Given the description of an element on the screen output the (x, y) to click on. 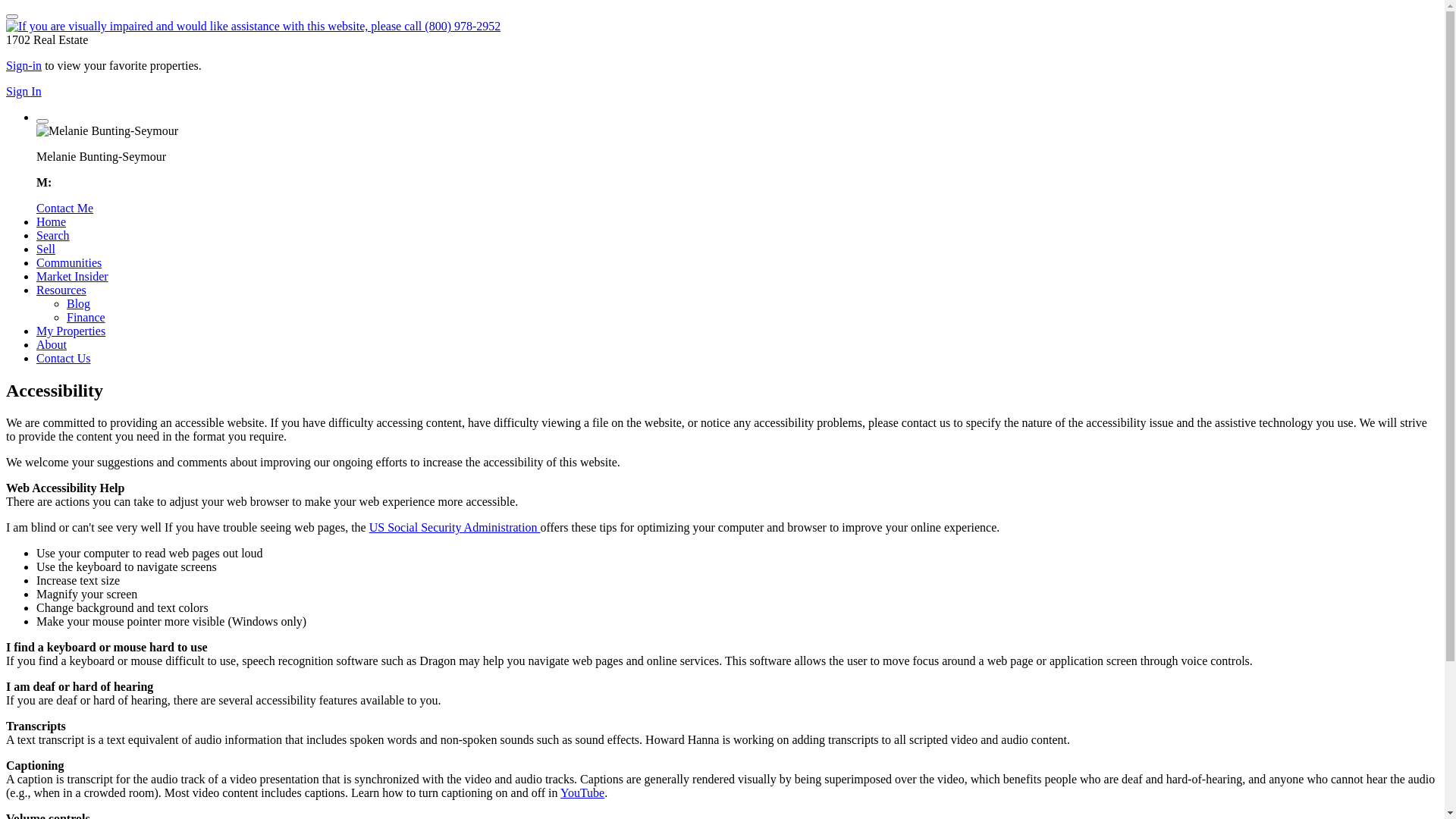
Sell Element type: text (45, 248)
Market Insider Element type: text (72, 275)
Contact Me Element type: text (64, 207)
US Social Security Administration Element type: text (454, 526)
Communities Element type: text (68, 262)
Blog Element type: text (78, 303)
Search Element type: text (52, 235)
About Element type: text (51, 344)
Home Element type: text (50, 221)
Sign-in Element type: text (23, 65)
Finance Element type: text (85, 316)
YouTube Element type: text (582, 792)
Sign In Element type: text (23, 90)
My Properties Element type: text (70, 330)
Contact Us Element type: text (63, 357)
Resources Element type: text (61, 289)
